Given the description of an element on the screen output the (x, y) to click on. 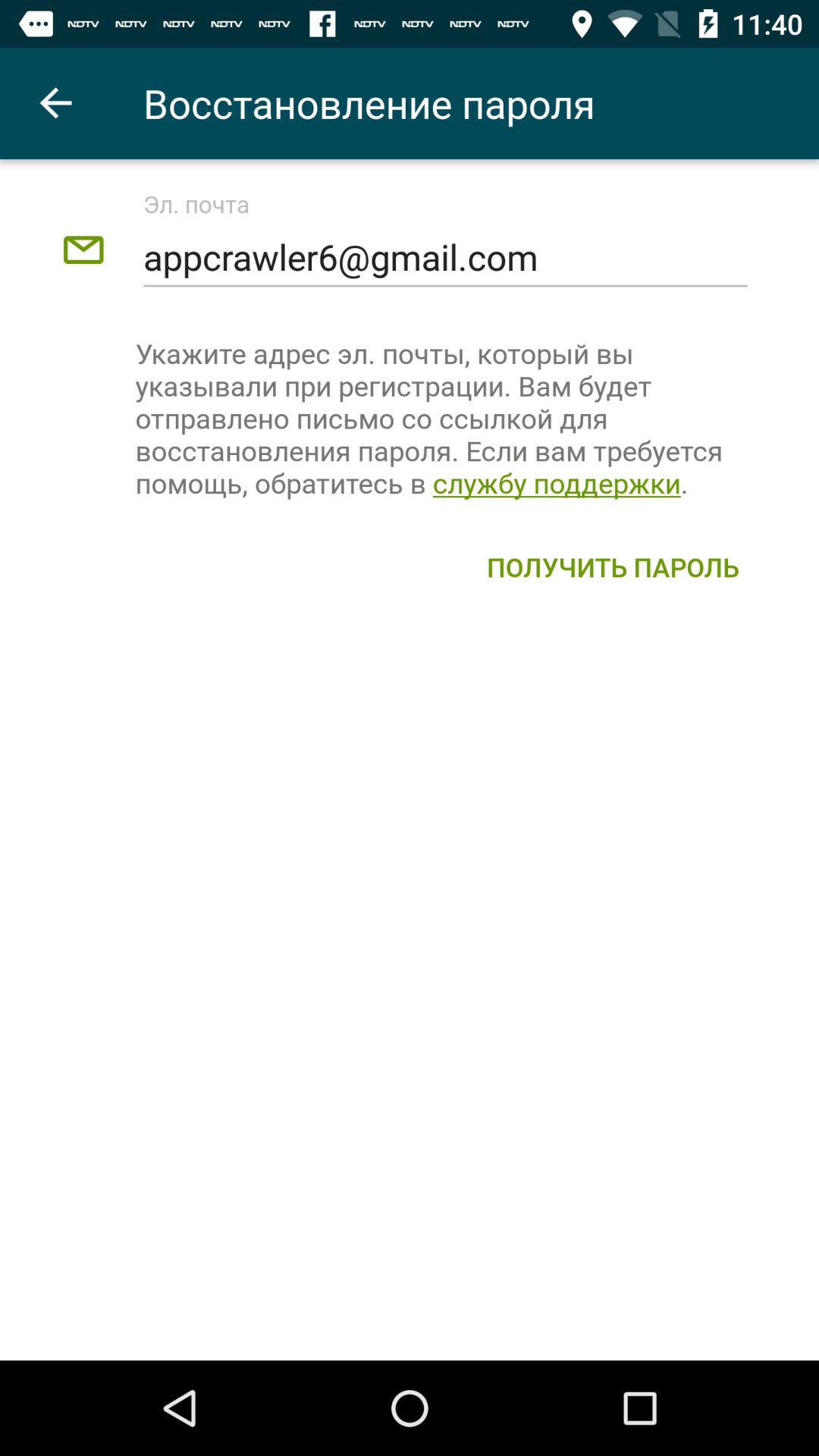
select appcrawler6@gmail.com icon (445, 257)
